Given the description of an element on the screen output the (x, y) to click on. 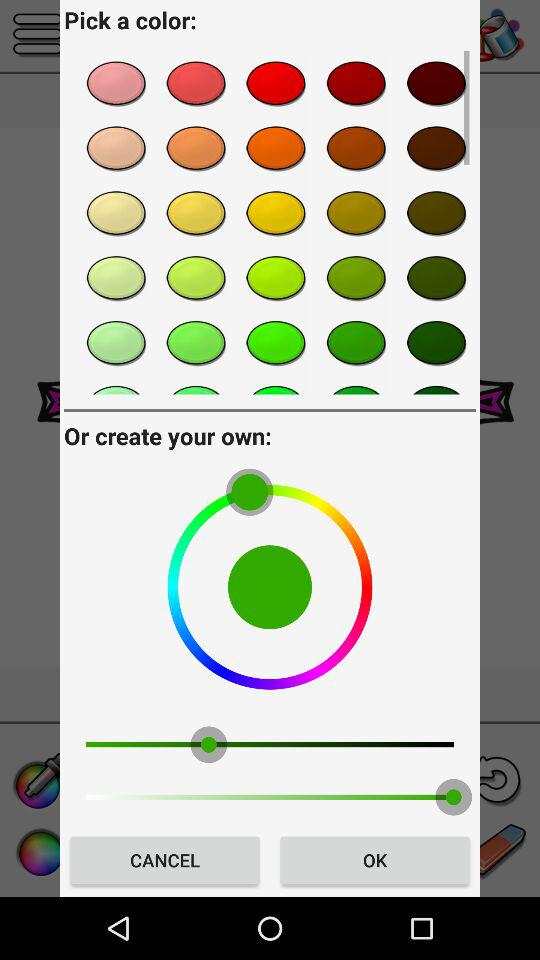
open the icon next to cancel item (374, 859)
